Given the description of an element on the screen output the (x, y) to click on. 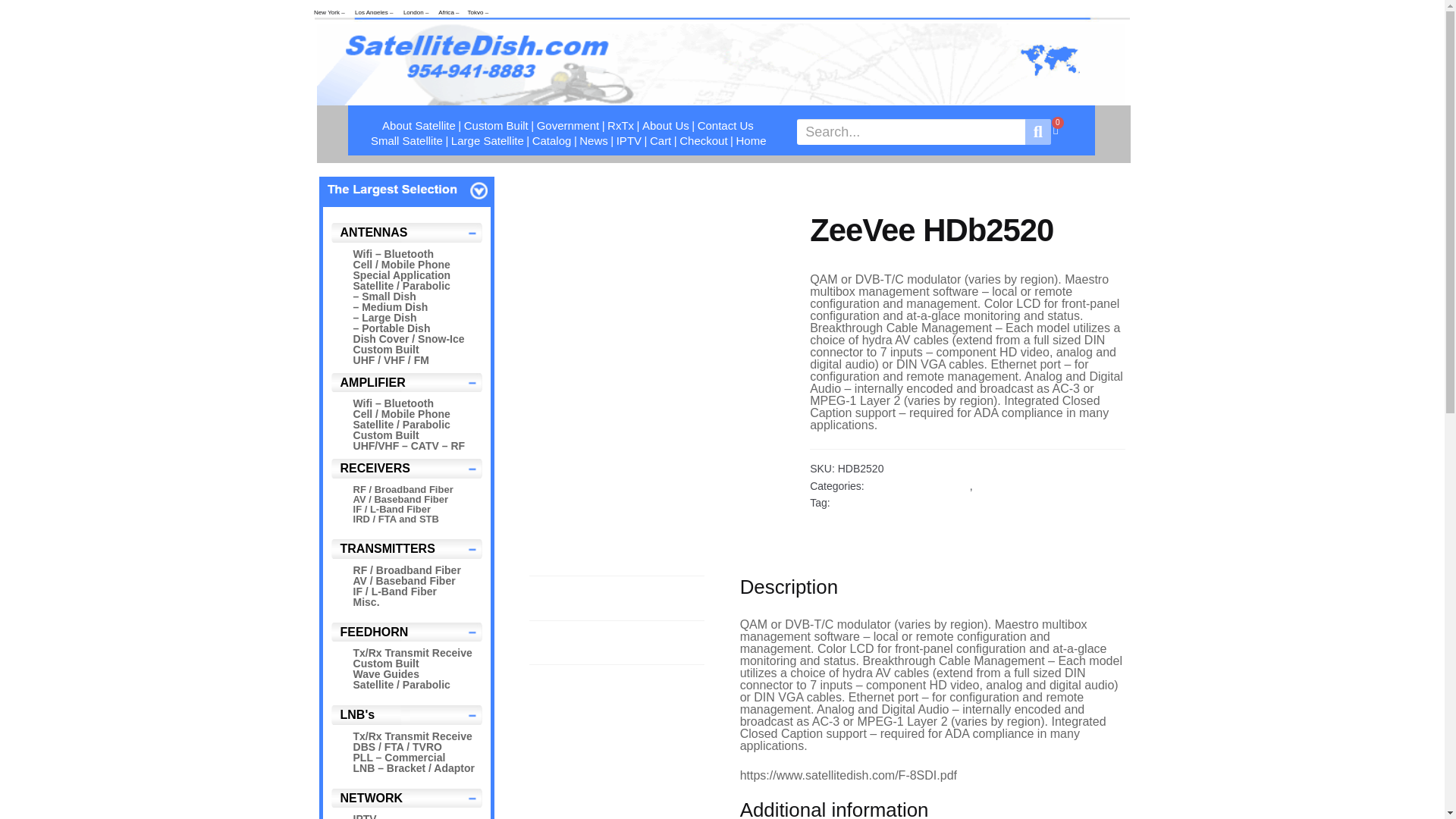
Large Satellite (486, 140)
Custom Built (496, 125)
Search (910, 131)
Government (567, 125)
About Satellite (419, 125)
Checkout (703, 140)
About Us (666, 125)
News (593, 140)
Home (751, 140)
Catalog (551, 140)
Contact Us (725, 125)
Search (1038, 131)
Small Satellite (406, 140)
wholesale (406, 189)
